Given the description of an element on the screen output the (x, y) to click on. 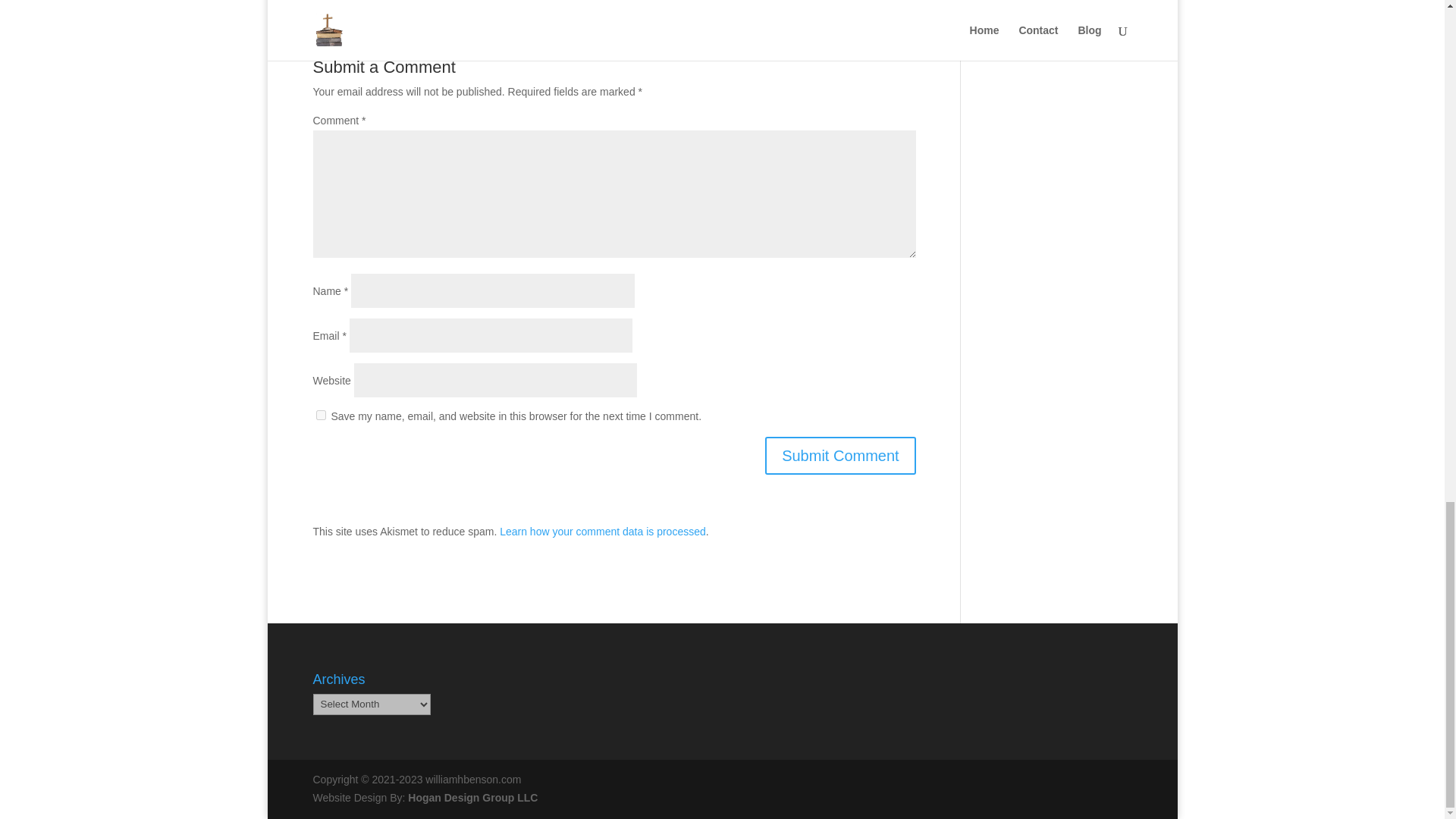
Submit Comment (840, 455)
Submit Comment (840, 455)
Learn how your comment data is processed (602, 531)
yes (319, 415)
Hogan Design Group LLC (472, 797)
